Given the description of an element on the screen output the (x, y) to click on. 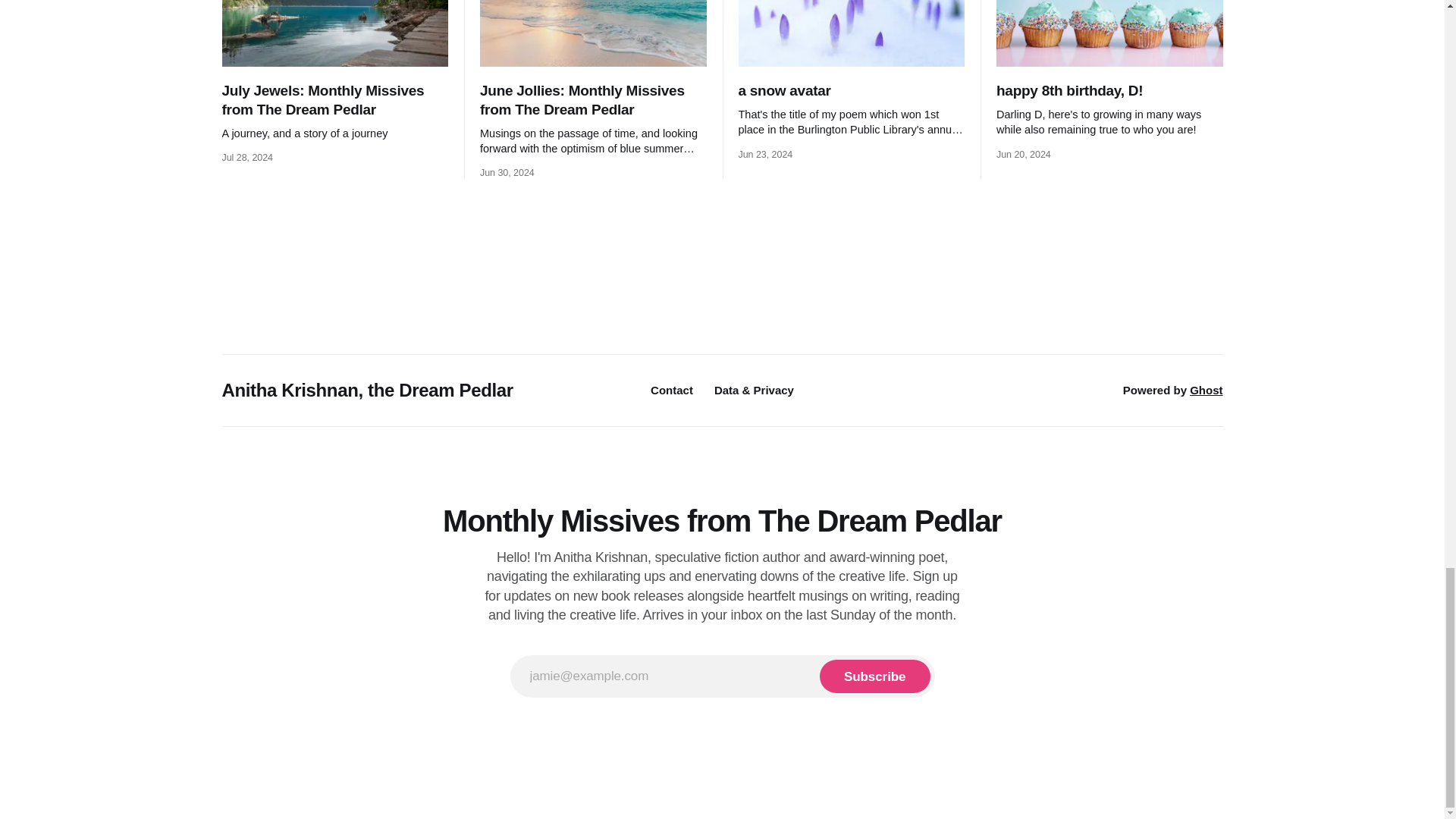
Ghost (1206, 390)
Subscribe (874, 676)
Contact (671, 390)
